Given the description of an element on the screen output the (x, y) to click on. 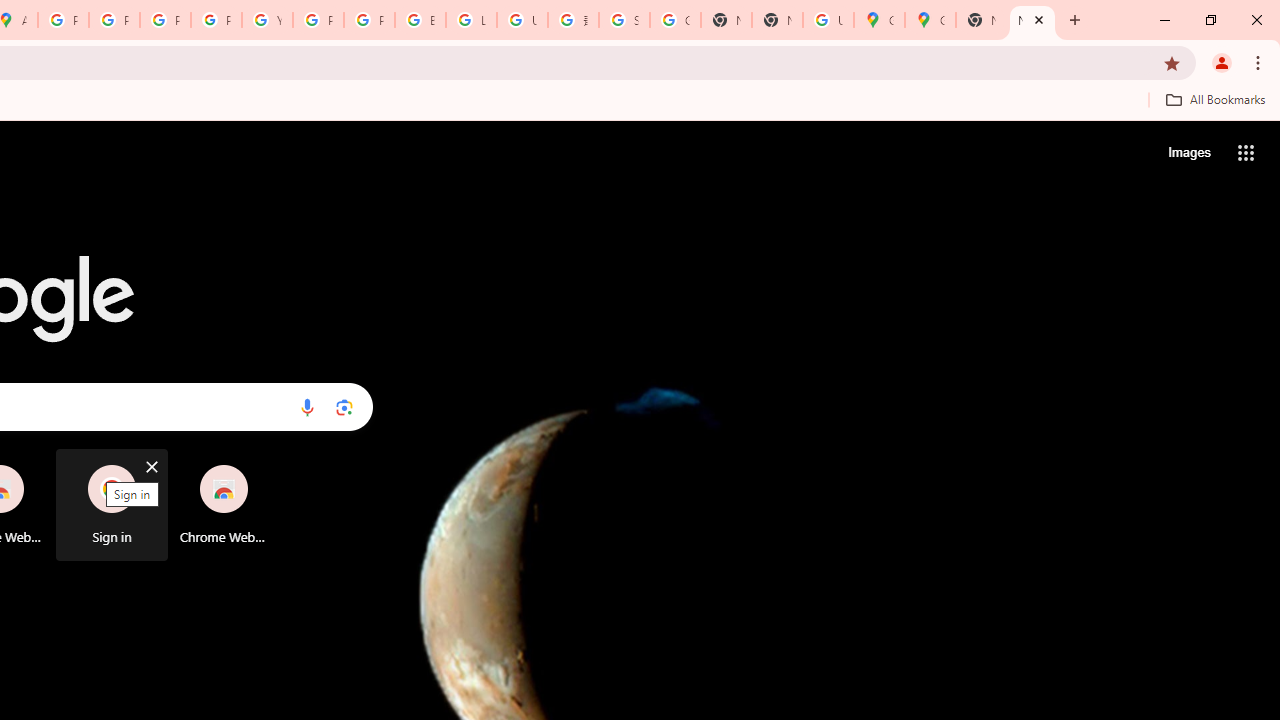
Privacy Help Center - Policies Help (113, 20)
New Tab (776, 20)
Google Maps (878, 20)
Google Maps (930, 20)
Use Google Maps in Space - Google Maps Help (827, 20)
